Given the description of an element on the screen output the (x, y) to click on. 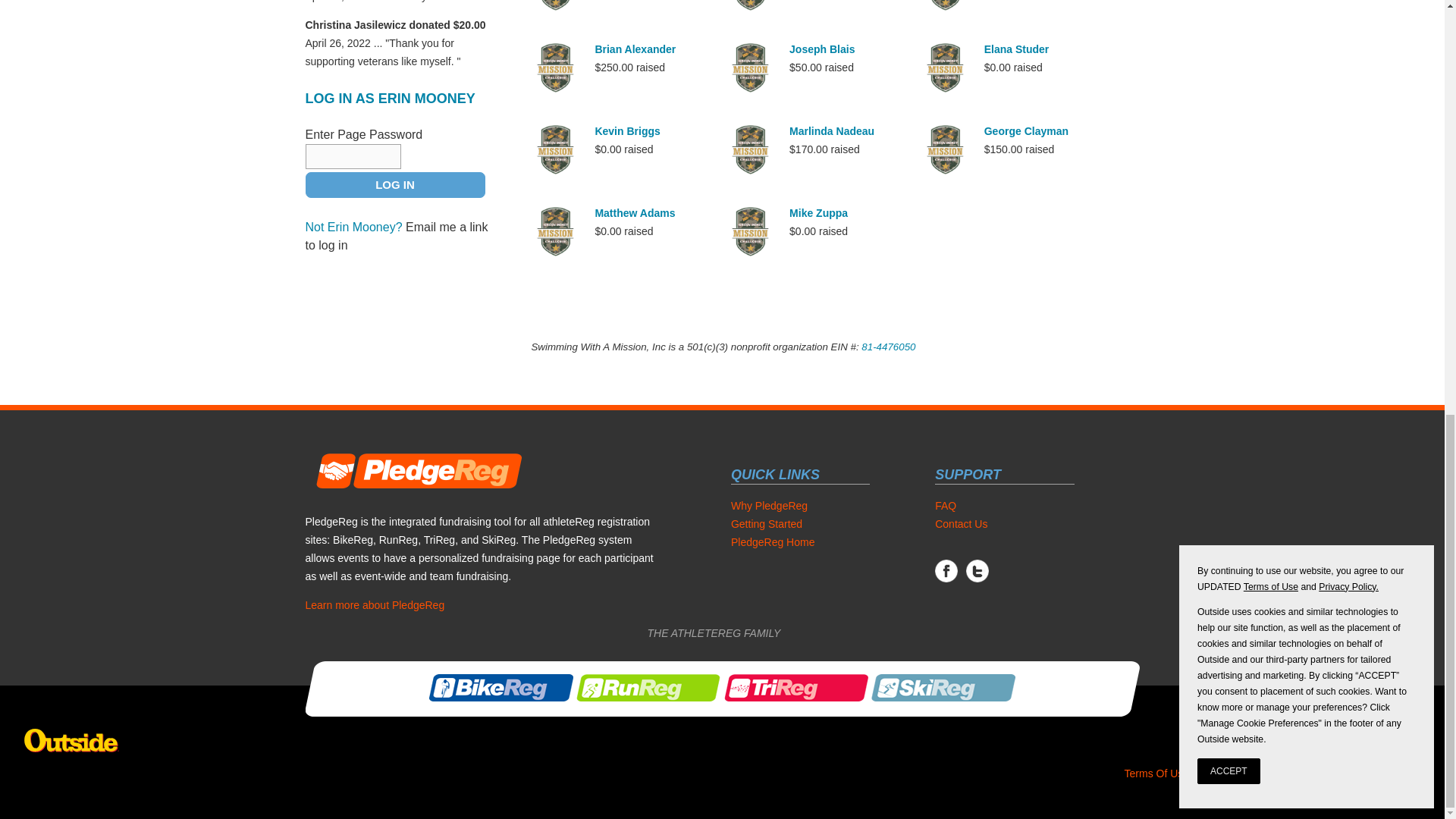
Joseph Blais (821, 49)
Log In (394, 184)
Elana Studer (1016, 49)
Not Erin Mooney? (352, 226)
Brian Alexander (634, 49)
Email me a link to log in (395, 235)
